Given the description of an element on the screen output the (x, y) to click on. 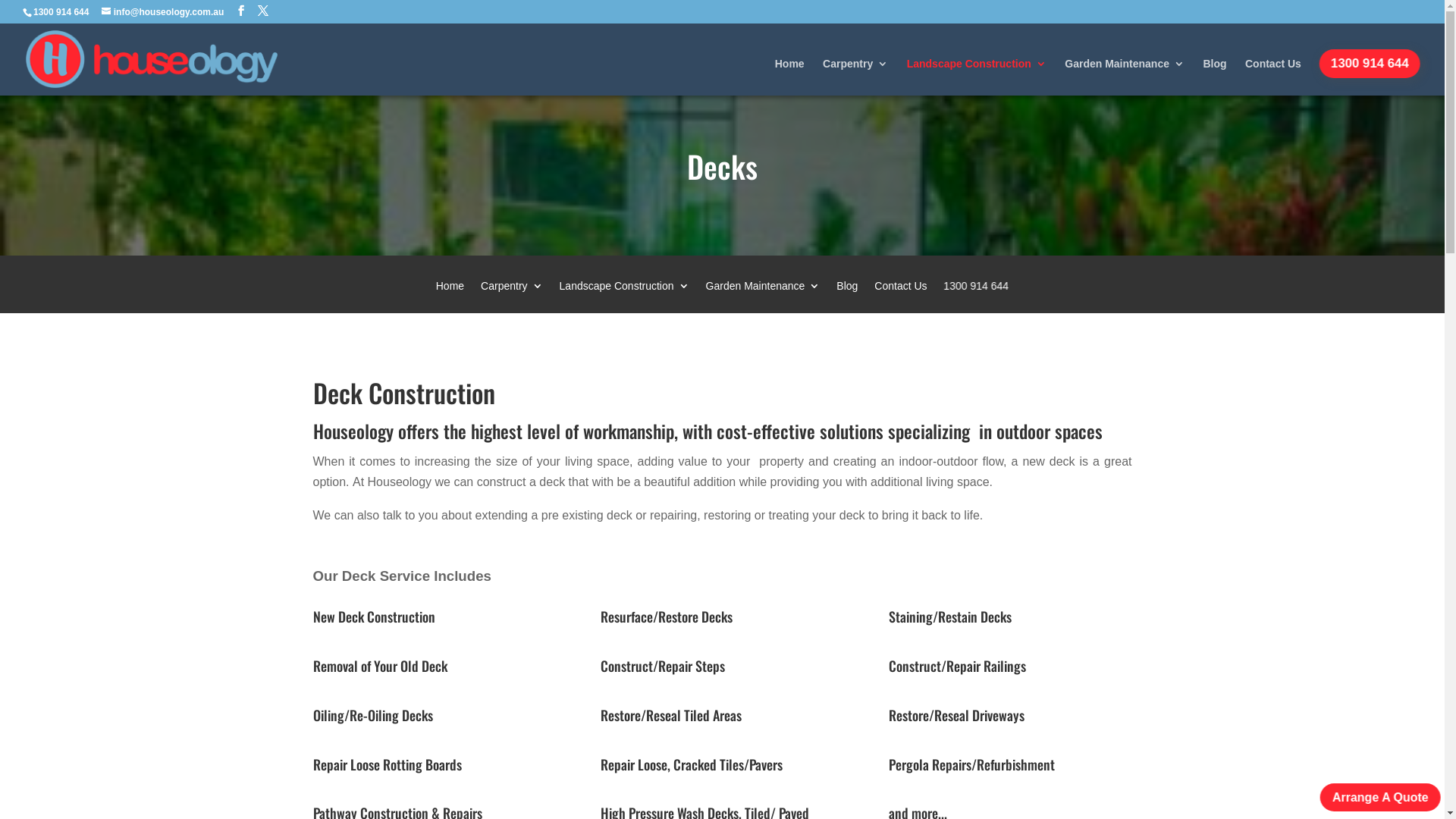
1300 914 644 Element type: text (60, 11)
Carpentry Element type: text (511, 296)
Garden Maintenance Element type: text (1124, 76)
1300 914 644 Element type: text (1377, 63)
Contact Us Element type: text (900, 296)
Home Element type: text (789, 76)
Blog Element type: text (1214, 76)
Carpentry Element type: text (855, 76)
Garden Maintenance Element type: text (763, 296)
Home Element type: text (450, 296)
info@houseology.com.au Element type: text (162, 11)
Blog Element type: text (846, 296)
Contact Us Element type: text (1273, 76)
1300 914 644 Element type: text (971, 296)
Arrange A Quote Element type: text (1379, 797)
Landscape Construction Element type: text (976, 76)
Landscape Construction Element type: text (624, 296)
